Given the description of an element on the screen output the (x, y) to click on. 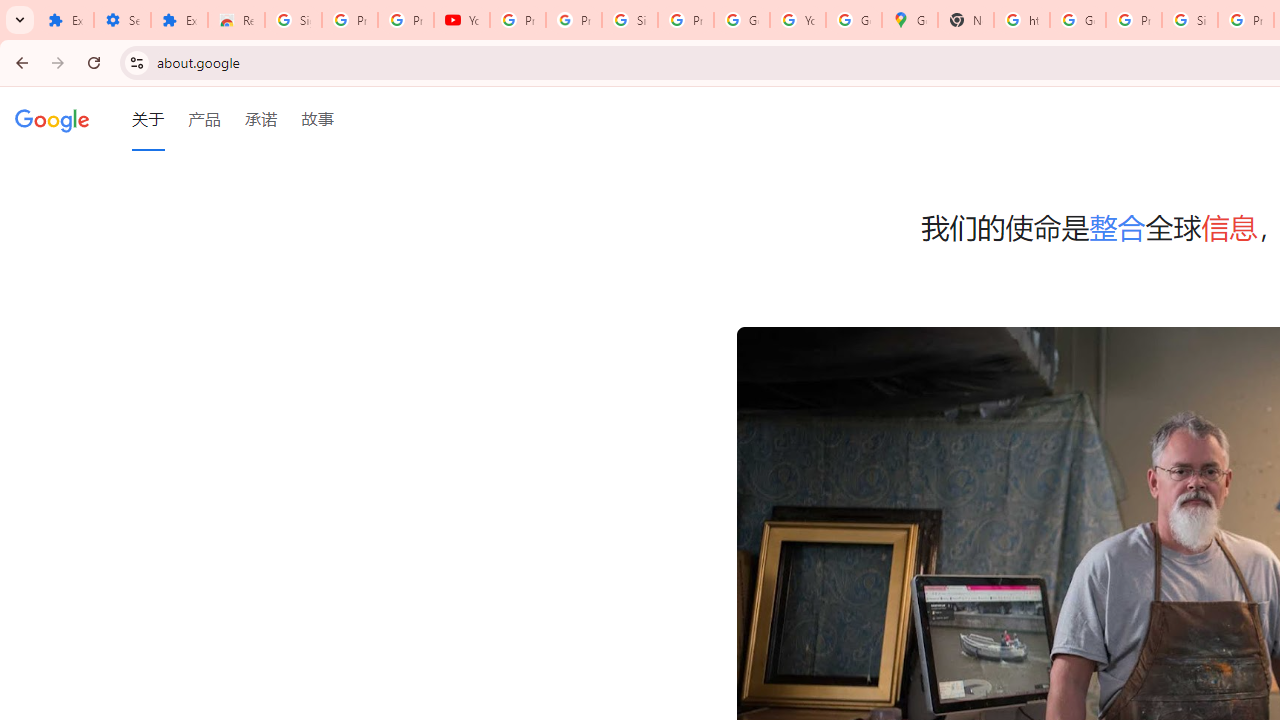
Sign in - Google Accounts (1190, 20)
YouTube (461, 20)
Settings (122, 20)
New Tab (966, 20)
Extensions (65, 20)
https://scholar.google.com/ (1021, 20)
Sign in - Google Accounts (293, 20)
